Given the description of an element on the screen output the (x, y) to click on. 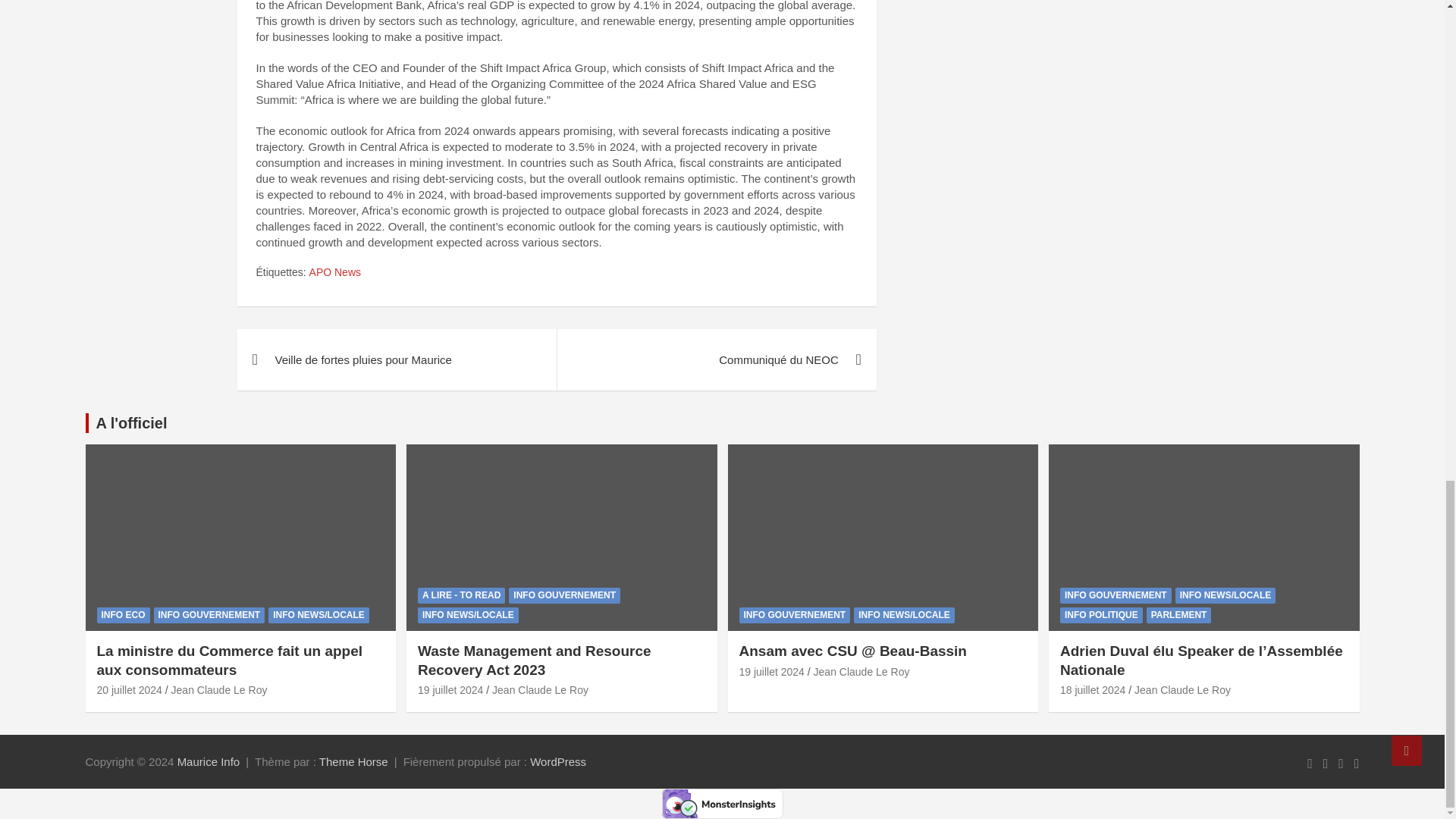
WordPress (557, 761)
Theme Horse (353, 761)
Maurice Info (208, 761)
La ministre du Commerce fait un appel aux consommateurs (129, 689)
Waste Management and Resource Recovery Act 2023 (450, 689)
APO News (334, 272)
Veille de fortes pluies pour Maurice (395, 359)
